Given the description of an element on the screen output the (x, y) to click on. 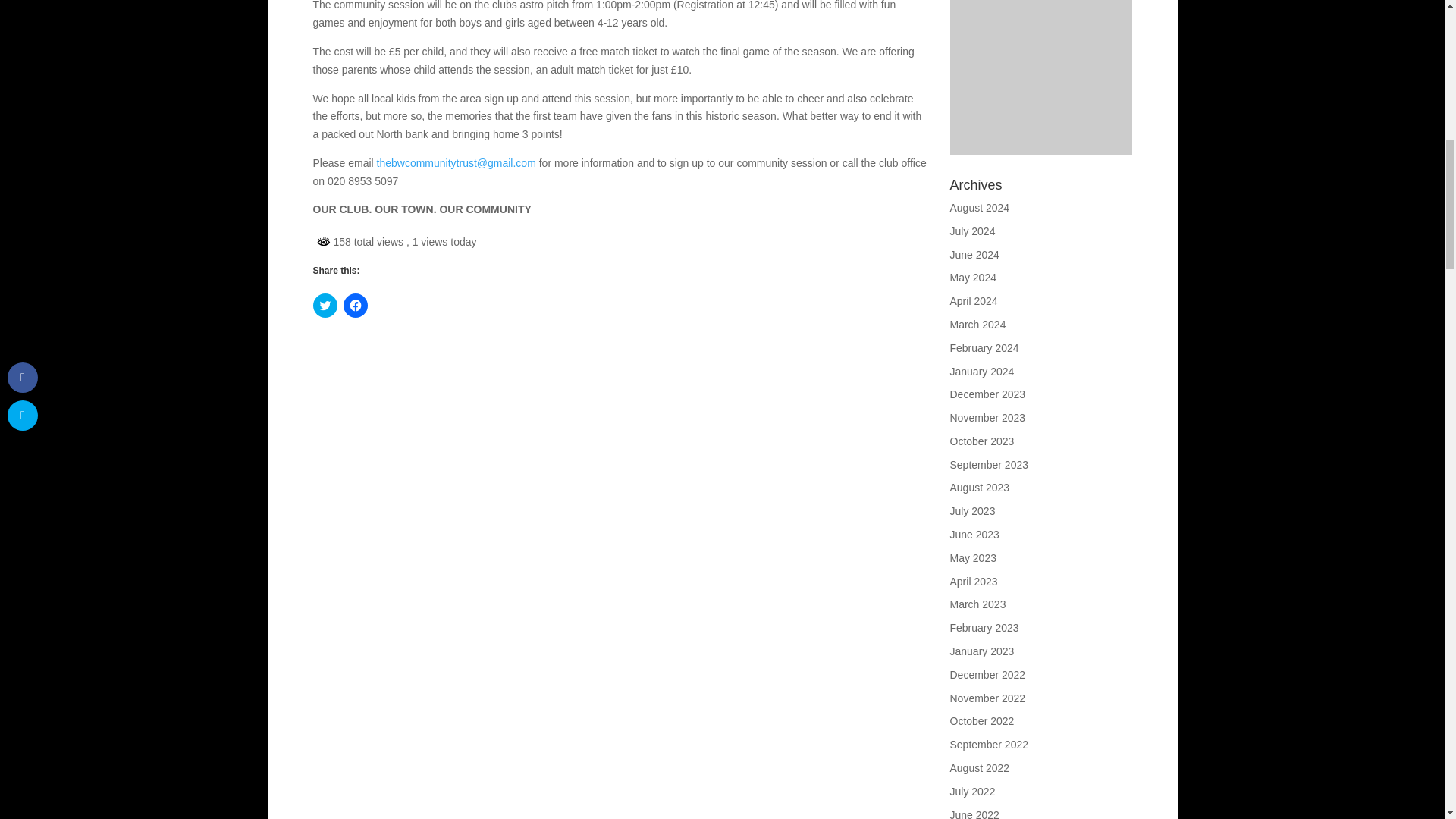
Click to share on Facebook (354, 305)
Click to share on Twitter (324, 305)
